Given the description of an element on the screen output the (x, y) to click on. 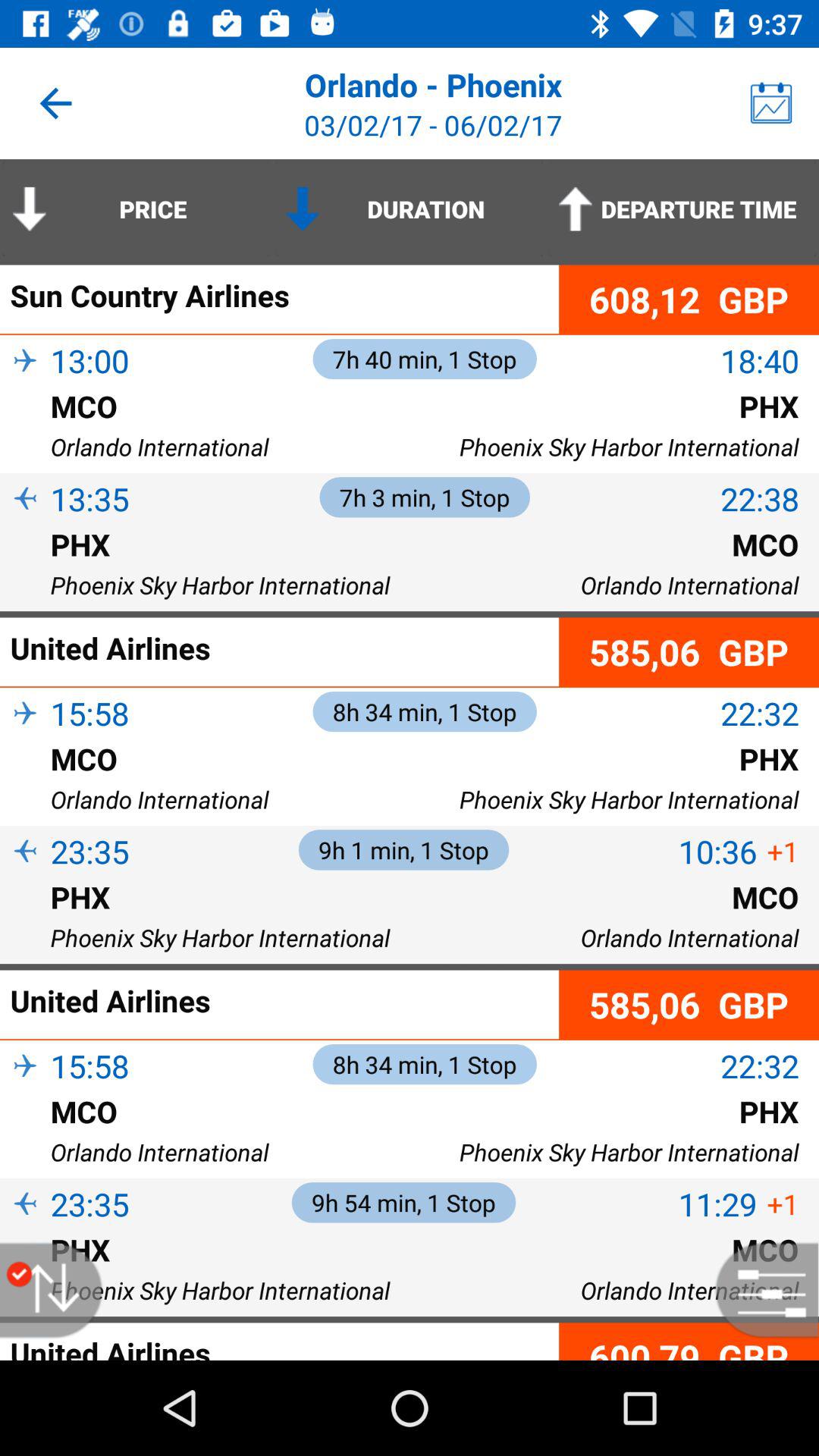
scroll page (59, 1290)
